Given the description of an element on the screen output the (x, y) to click on. 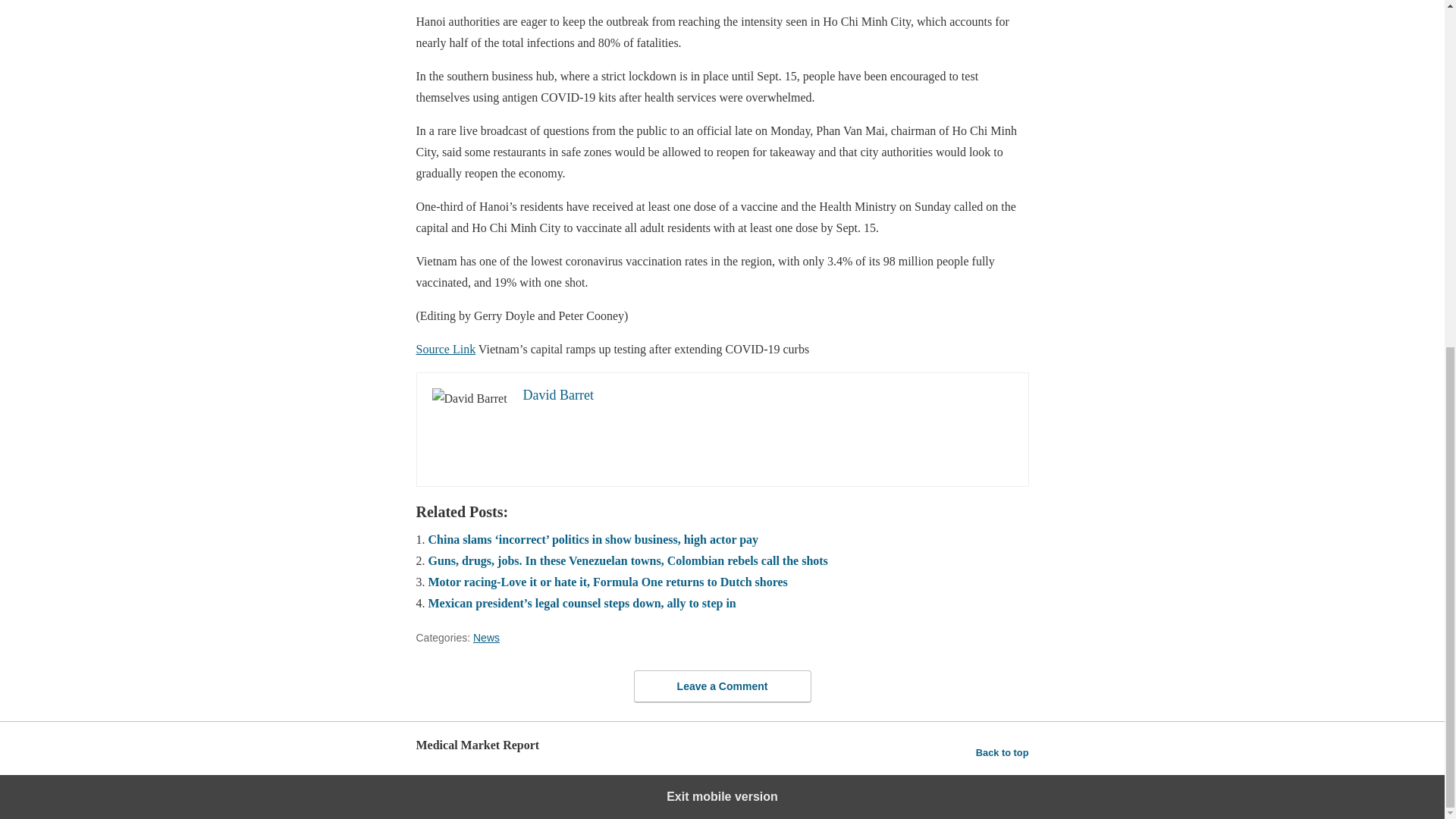
David Barret (558, 394)
Leave a Comment (721, 685)
News (486, 637)
Source Link (445, 349)
Back to top (1002, 752)
